Given the description of an element on the screen output the (x, y) to click on. 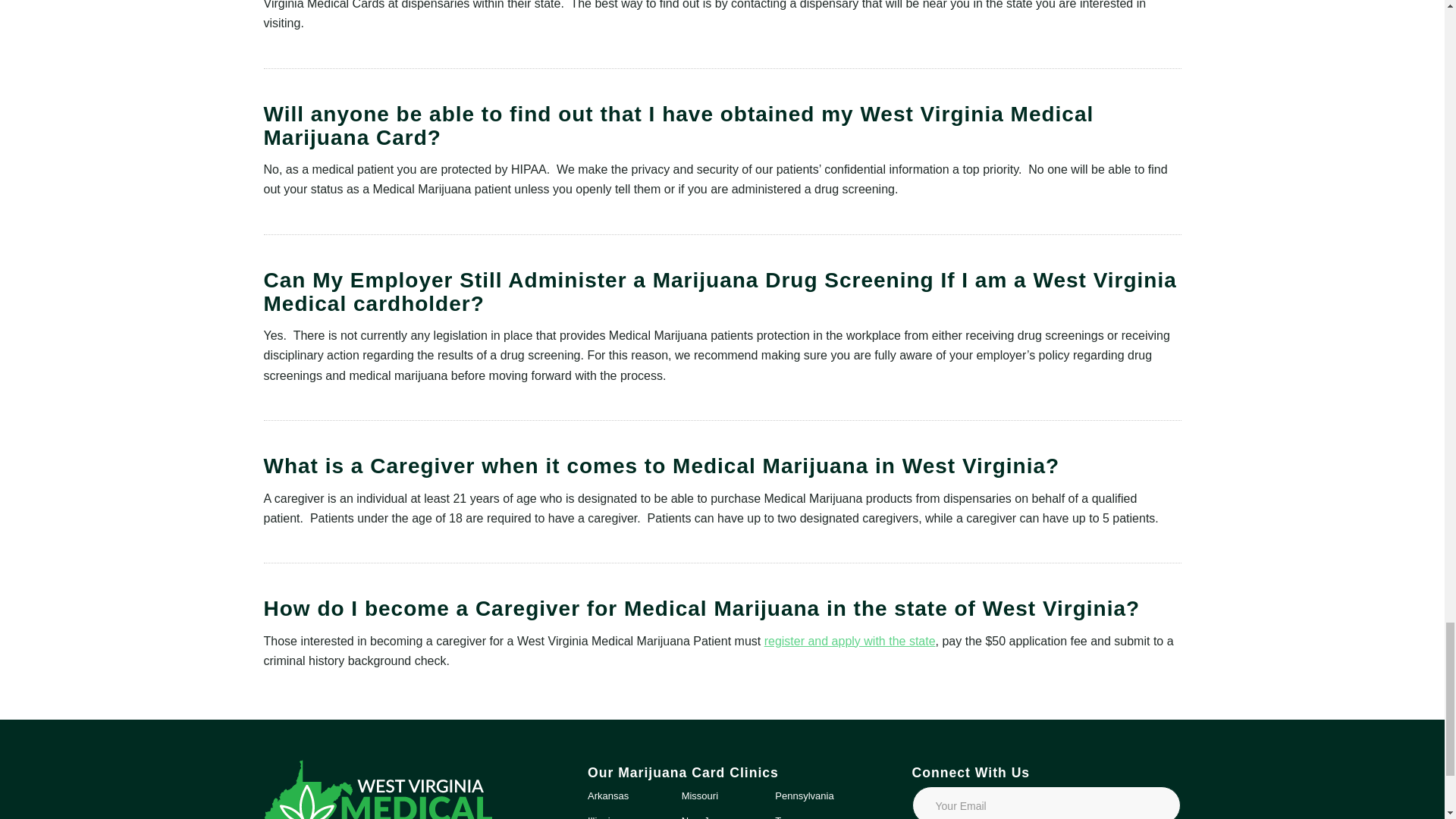
register and apply with the state (850, 640)
